Given the description of an element on the screen output the (x, y) to click on. 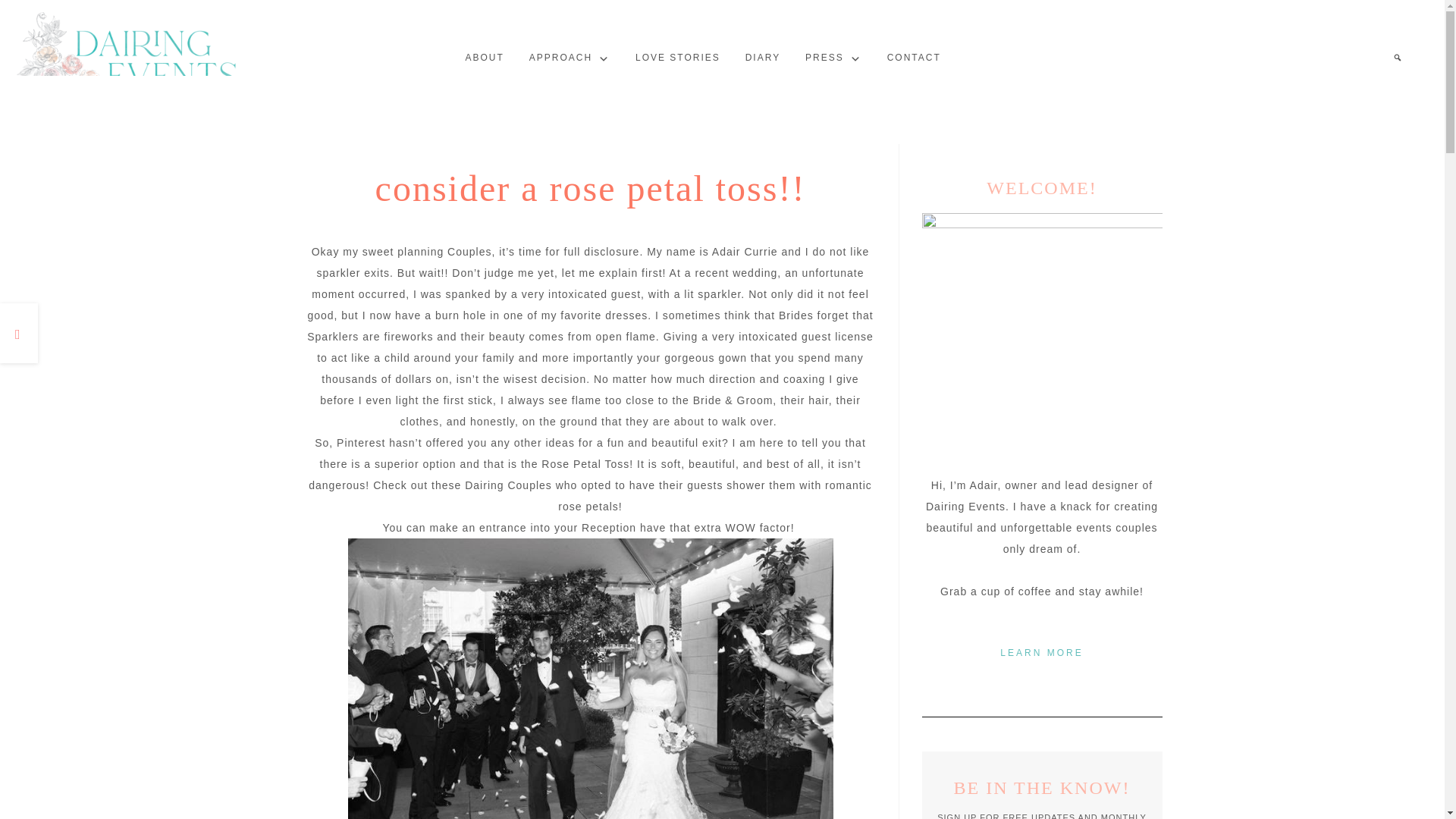
APPROACH (569, 57)
DIARY (762, 57)
LEARN MORE (1041, 652)
Dairing Events (128, 60)
LOVE STORIES (677, 57)
ABOUT (484, 57)
PRESS (833, 57)
CONTACT (914, 57)
